Given the description of an element on the screen output the (x, y) to click on. 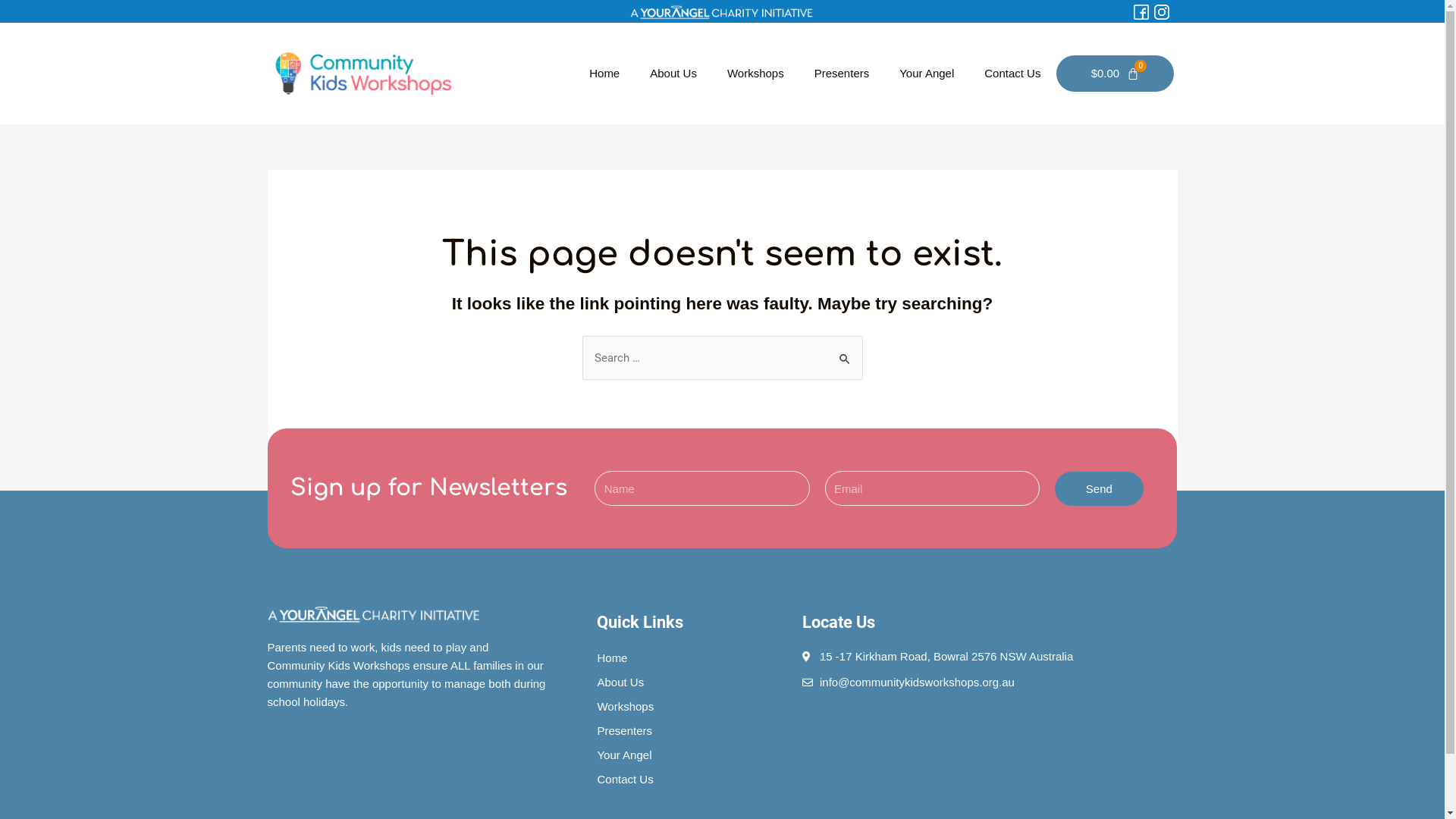
About Us Element type: text (673, 73)
$0.00
0 Element type: text (1115, 73)
Contact Us Element type: text (691, 779)
Contact Us Element type: text (1012, 73)
Presenters Element type: text (841, 73)
Your Angel Element type: text (926, 73)
Search Element type: text (845, 351)
About Us Element type: text (691, 682)
Home Element type: text (604, 73)
Presenters Element type: text (691, 730)
Home Element type: text (691, 657)
Send Element type: text (1098, 488)
Workshops Element type: text (755, 73)
Workshops Element type: text (691, 706)
Your Angel Element type: text (691, 754)
